Given the description of an element on the screen output the (x, y) to click on. 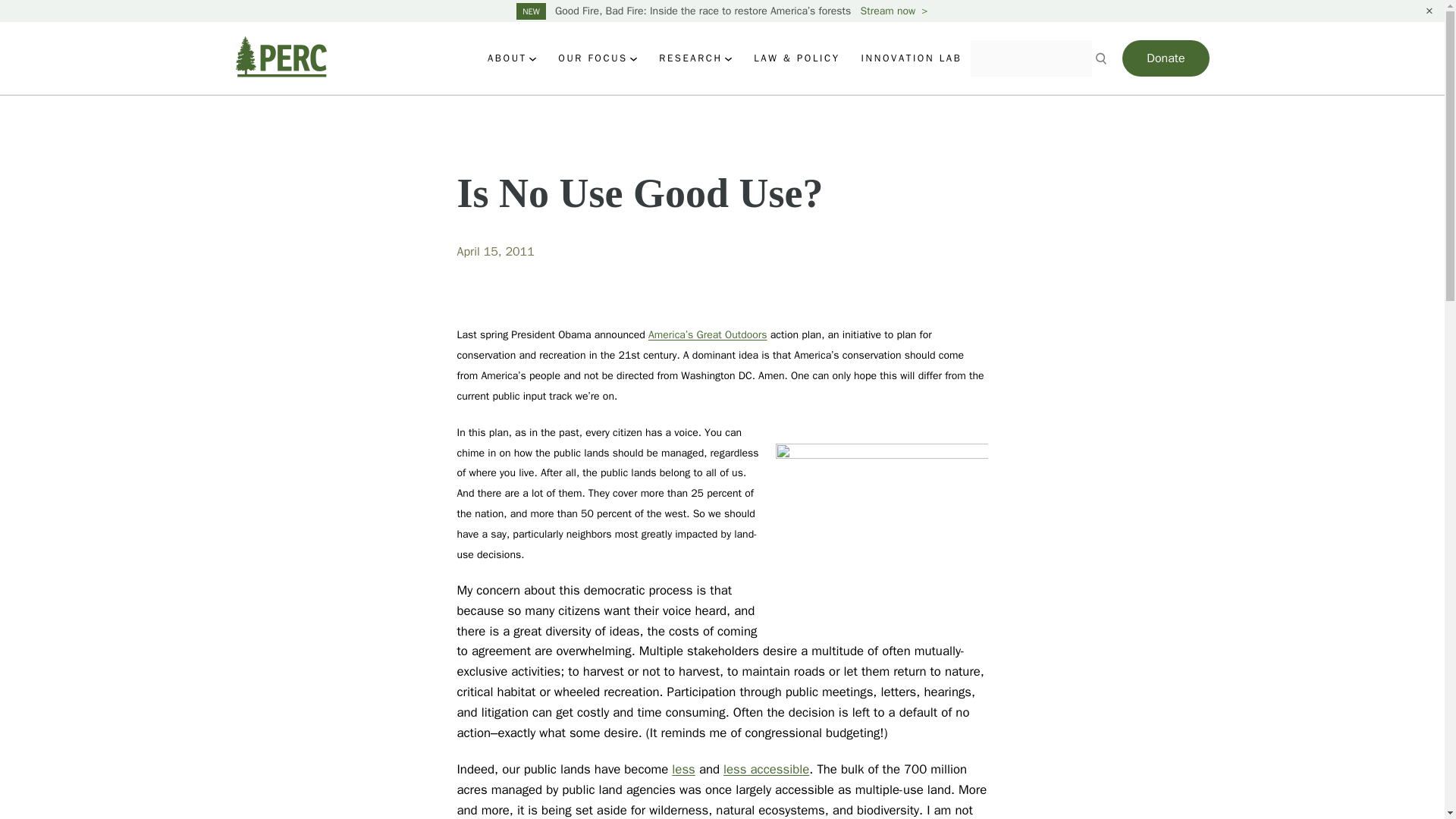
INNOVATION LAB (911, 58)
Stream now (894, 10)
Is no use good use? (873, 523)
Donate (1165, 58)
